Given the description of an element on the screen output the (x, y) to click on. 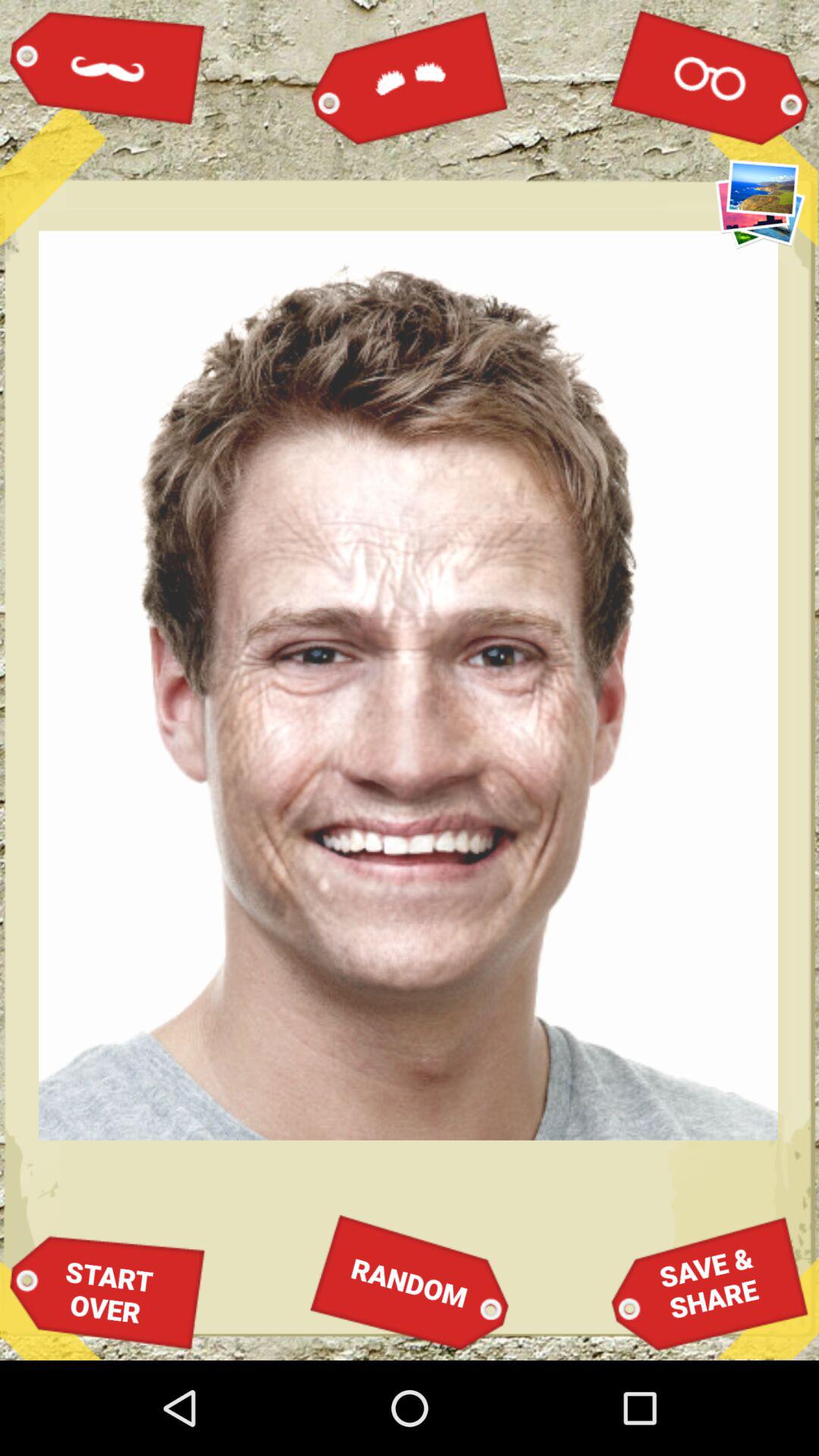
scroll until the save &
share (709, 1282)
